Given the description of an element on the screen output the (x, y) to click on. 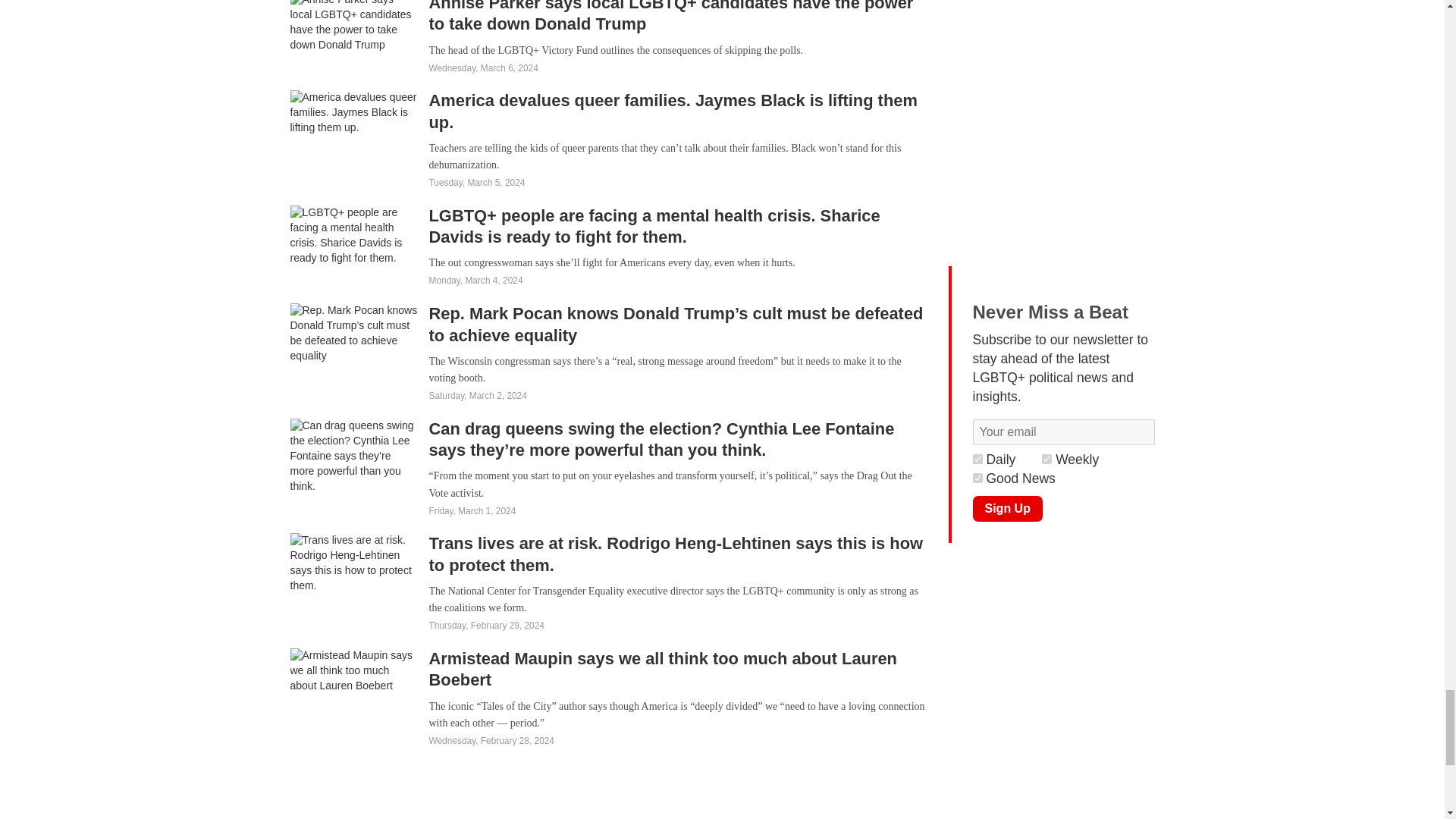
1920884 (1046, 459)
1920883 (976, 478)
1920885 (976, 459)
Sign Up (1007, 508)
